Given the description of an element on the screen output the (x, y) to click on. 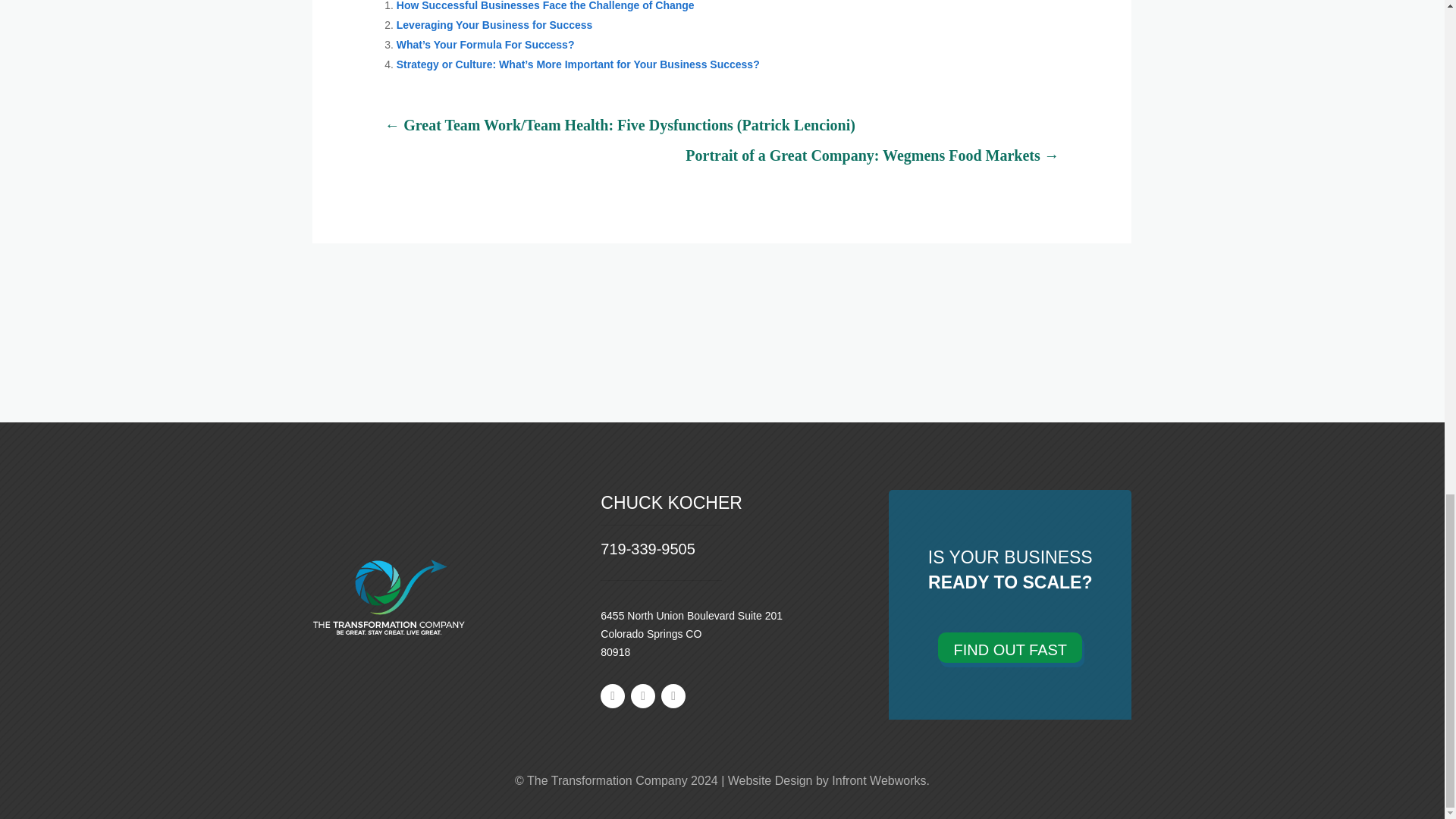
Leveraging Your Business for Success (494, 24)
Leveraging Your Business for Success (494, 24)
Follow on X (673, 695)
How Successful Businesses Face the Challenge of Change (545, 5)
719-339-9505 (647, 548)
Transformation Company (388, 596)
FIND OUT FAST (1009, 647)
Follow on Facebook (611, 695)
How Successful Businesses Face the Challenge of Change (545, 5)
Follow on LinkedIn (642, 695)
